Given the description of an element on the screen output the (x, y) to click on. 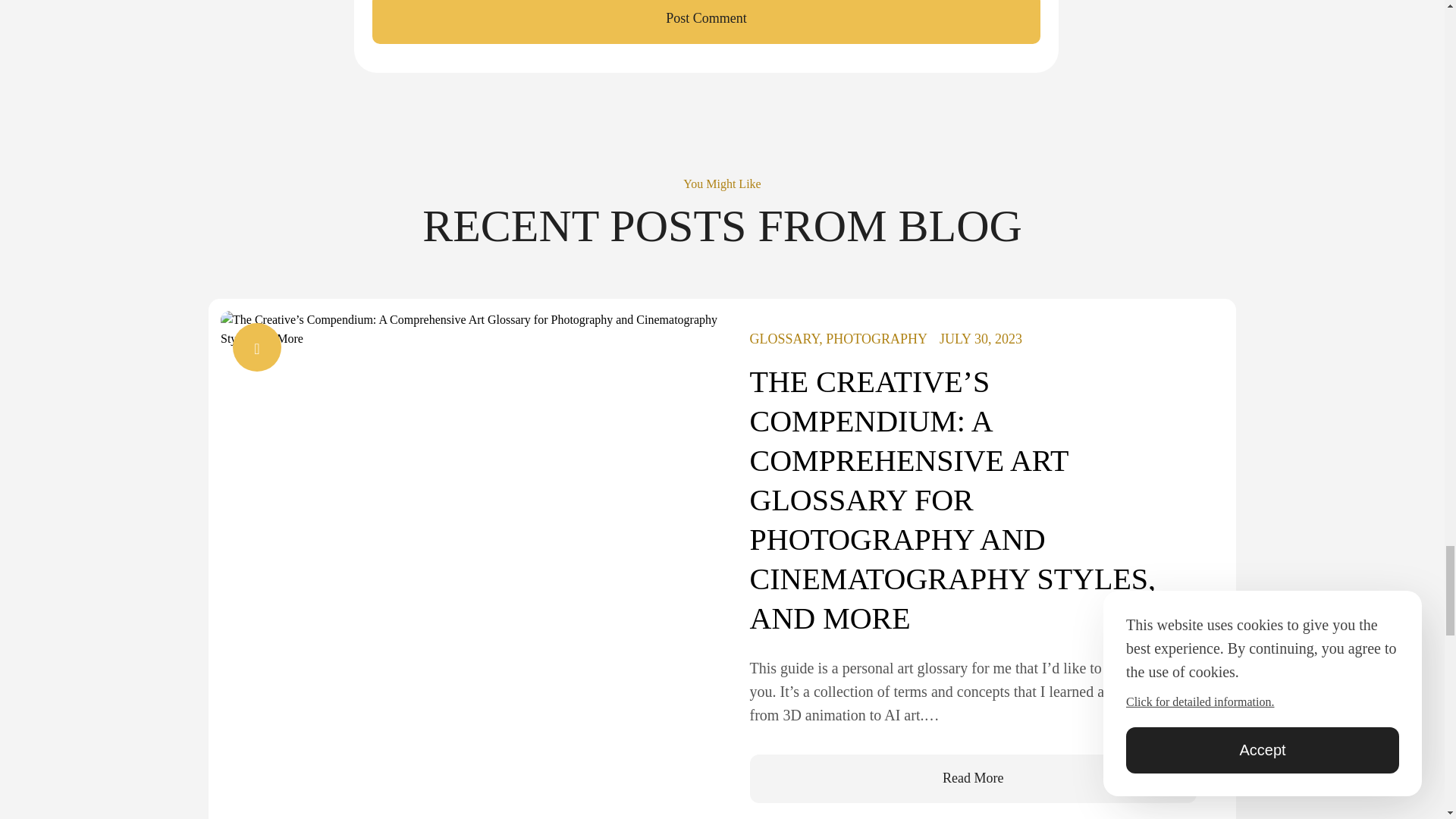
Post Comment (706, 22)
